Given the description of an element on the screen output the (x, y) to click on. 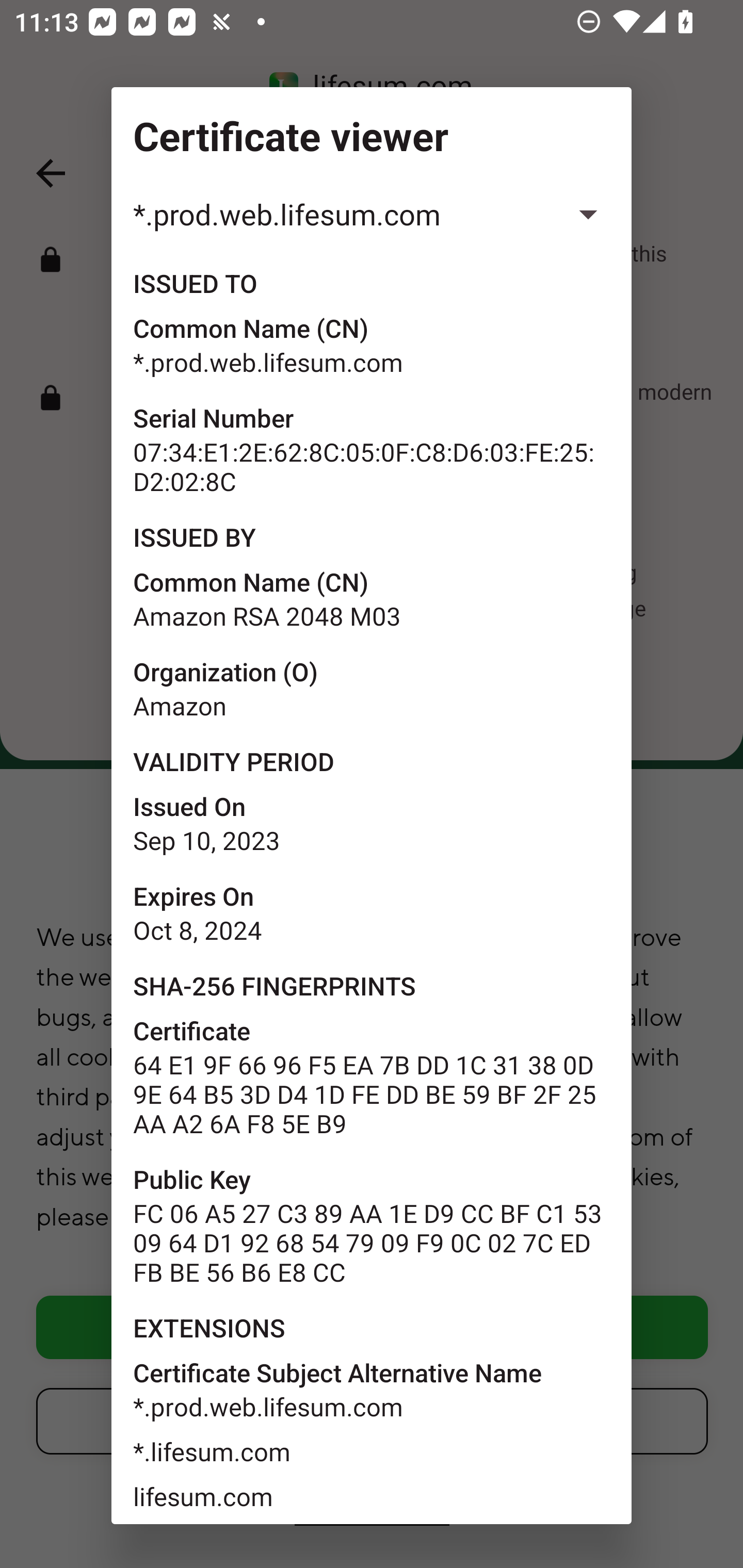
*.prod.web.lifesum.com (371, 213)
